Given the description of an element on the screen output the (x, y) to click on. 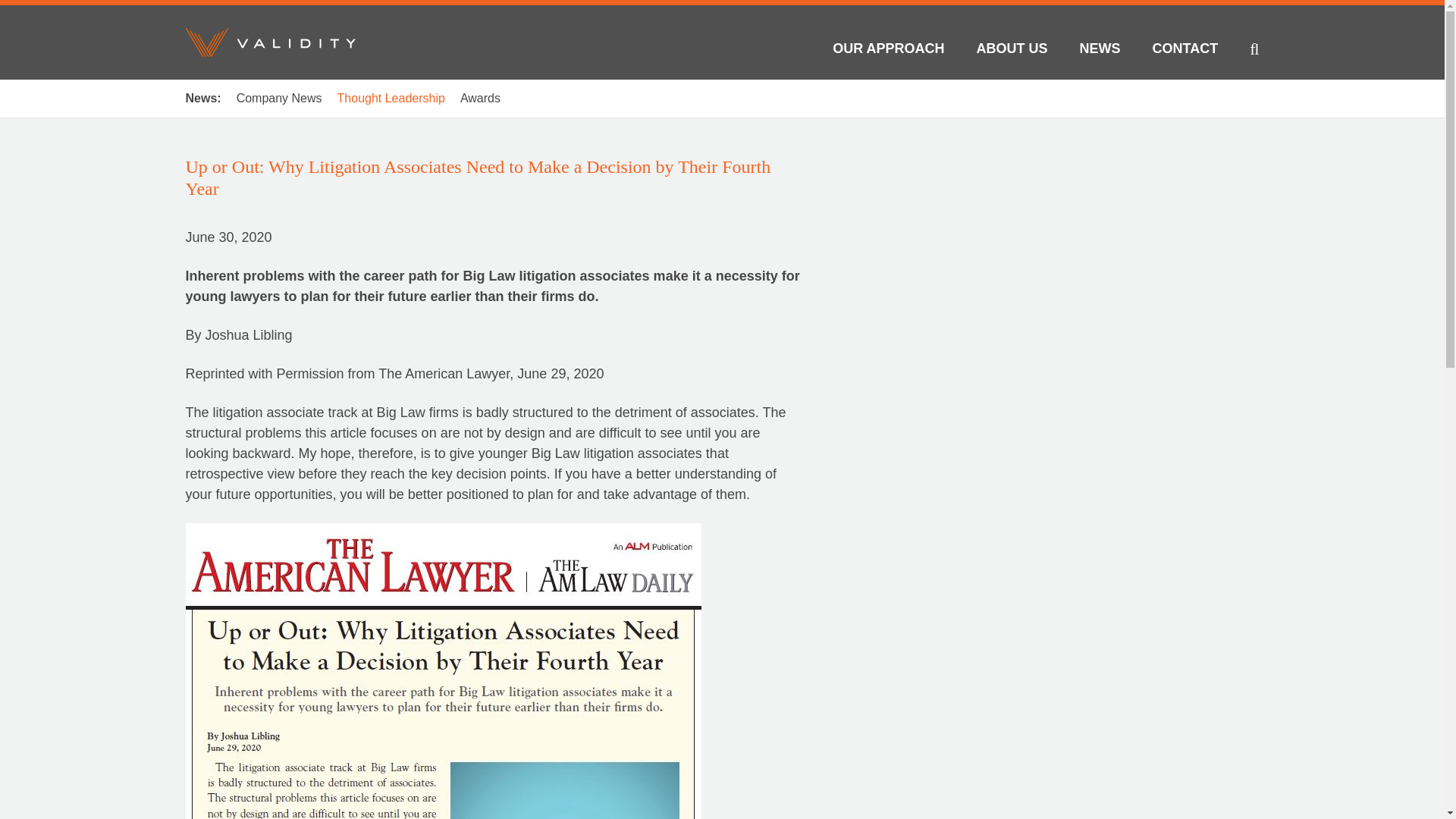
ABOUT US (1012, 51)
NEWS (1100, 51)
Thought Leadership (391, 98)
OUR APPROACH (887, 51)
Awards (480, 98)
News: (202, 98)
Company News (278, 98)
CONTACT (1185, 51)
